Given the description of an element on the screen output the (x, y) to click on. 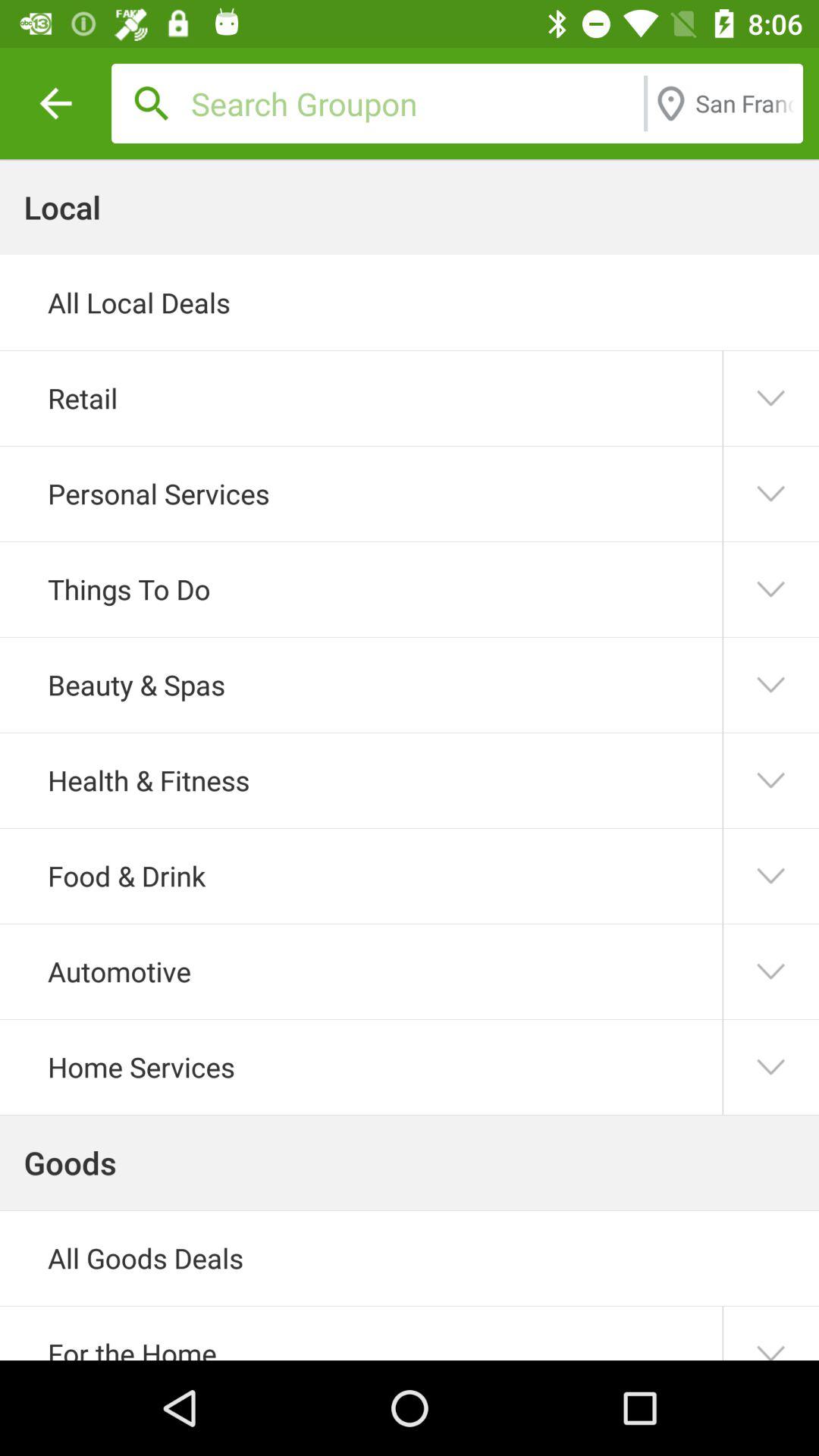
search box (413, 103)
